Given the description of an element on the screen output the (x, y) to click on. 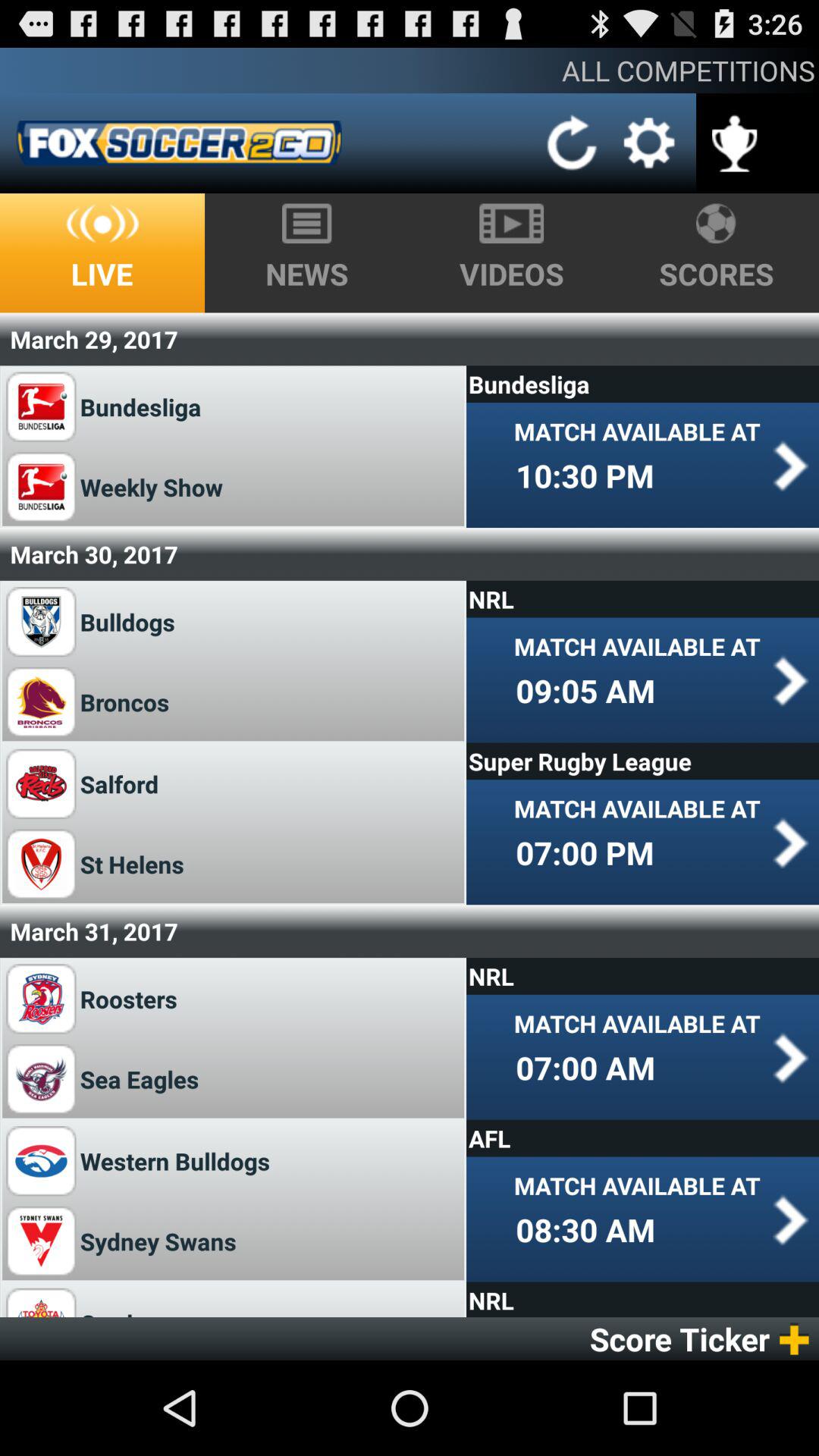
scroll to the western bulldogs (175, 1160)
